Given the description of an element on the screen output the (x, y) to click on. 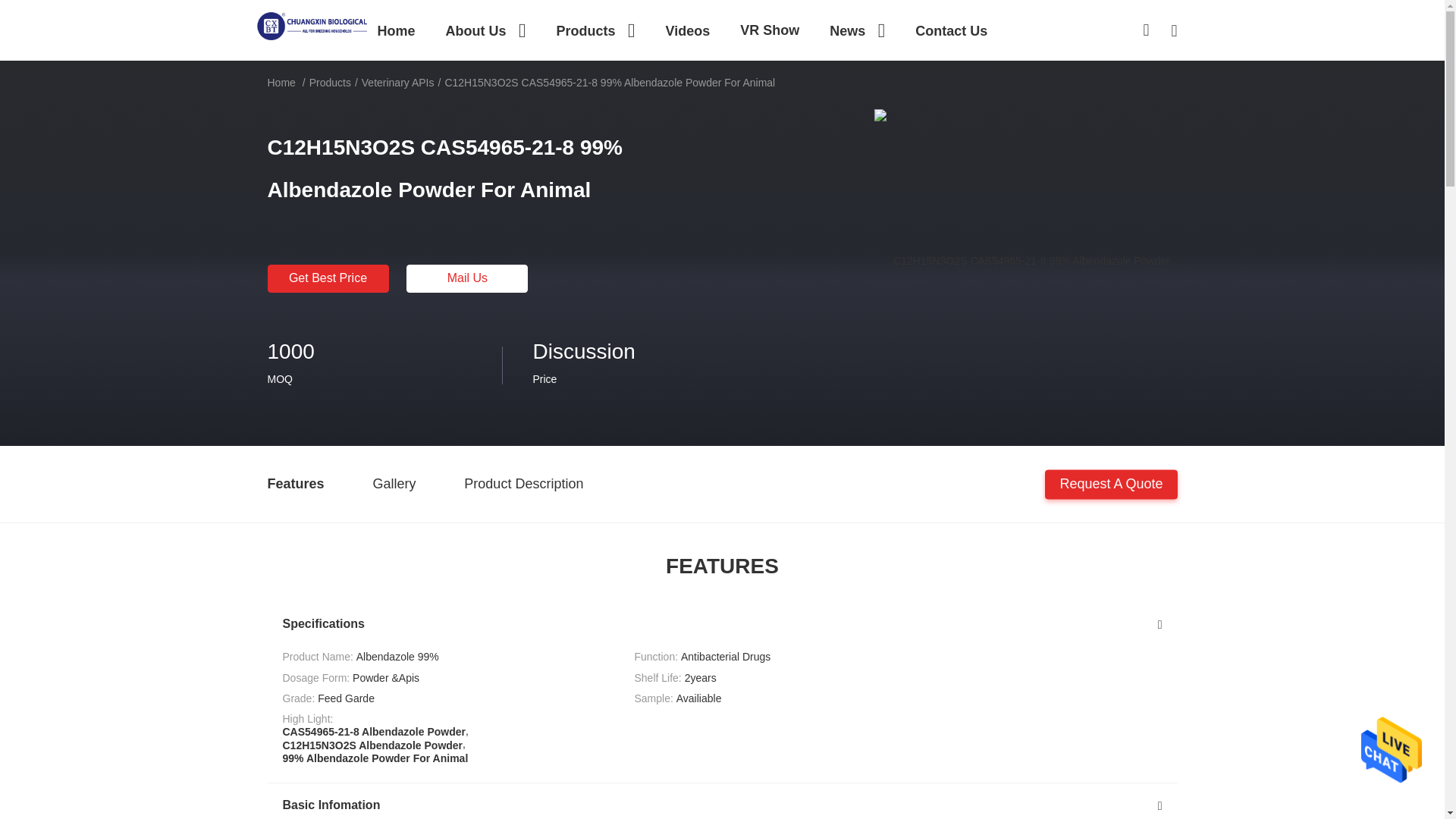
Home (395, 30)
Henan Chuangxin Biological Technology Co., Ltd. (312, 24)
Products (595, 30)
About Us (485, 30)
Home (395, 30)
About Us (485, 30)
Products (595, 30)
